Given the description of an element on the screen output the (x, y) to click on. 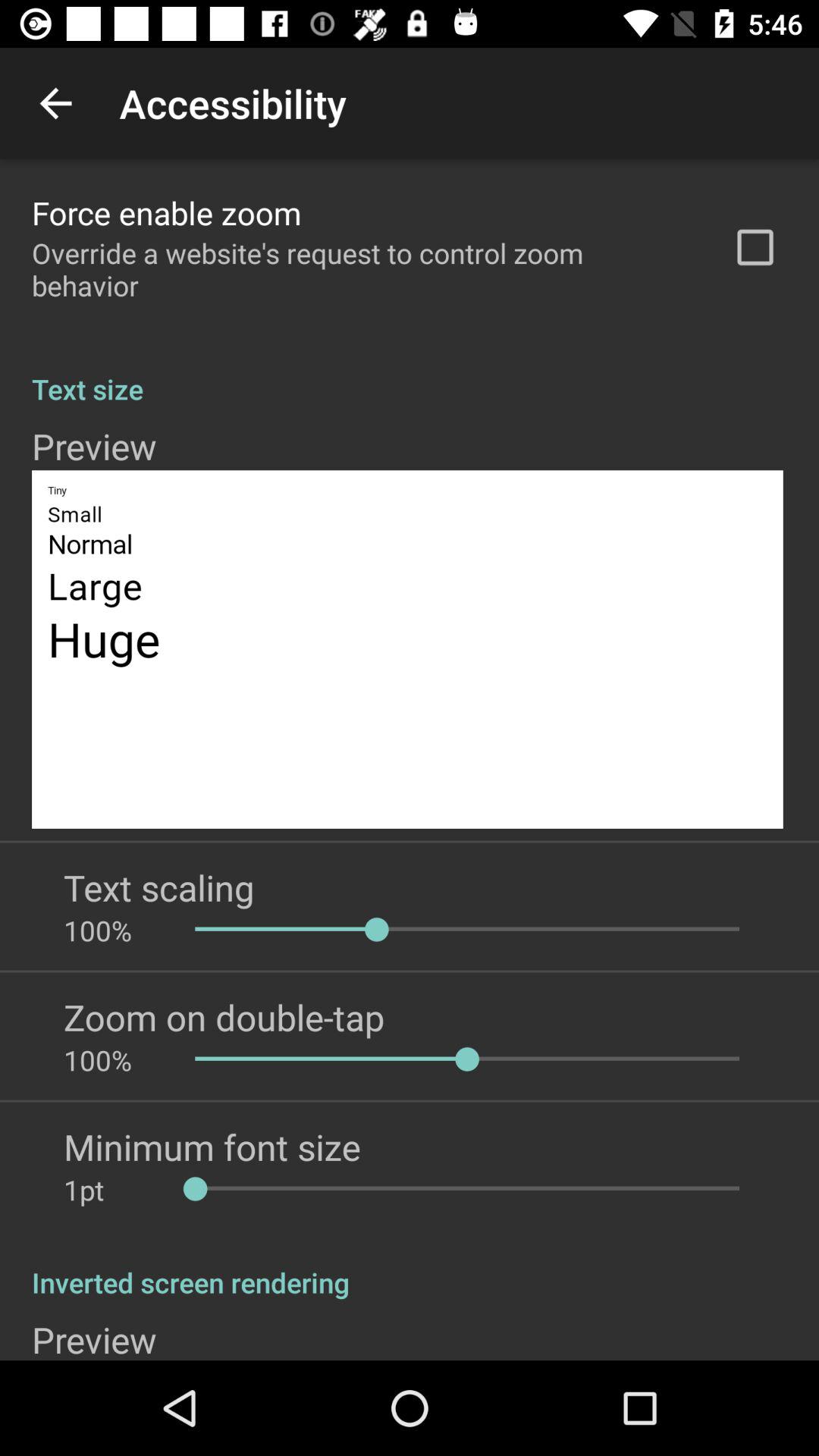
turn on the text size app (409, 372)
